Given the description of an element on the screen output the (x, y) to click on. 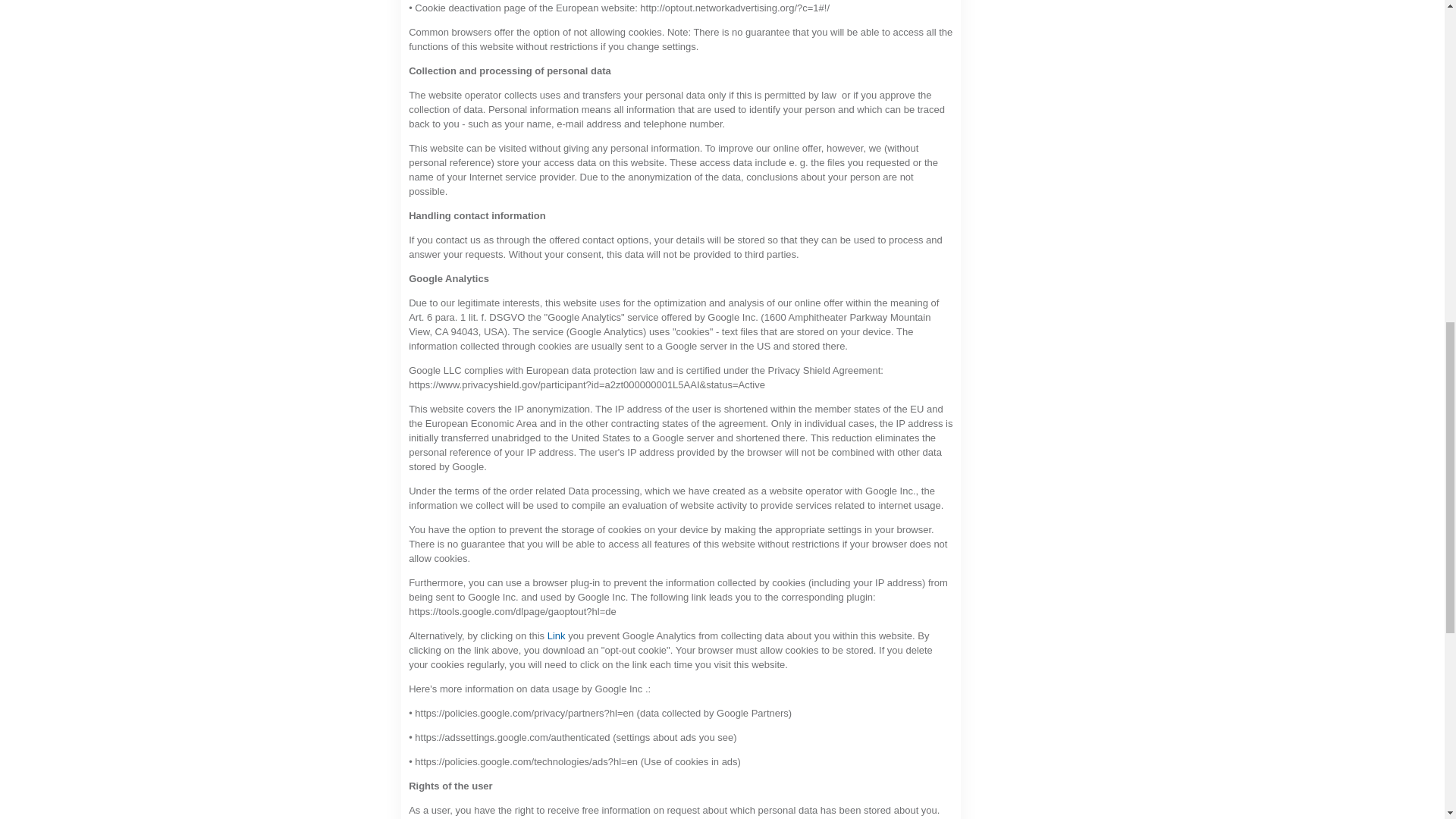
Link (556, 635)
